Given the description of an element on the screen output the (x, y) to click on. 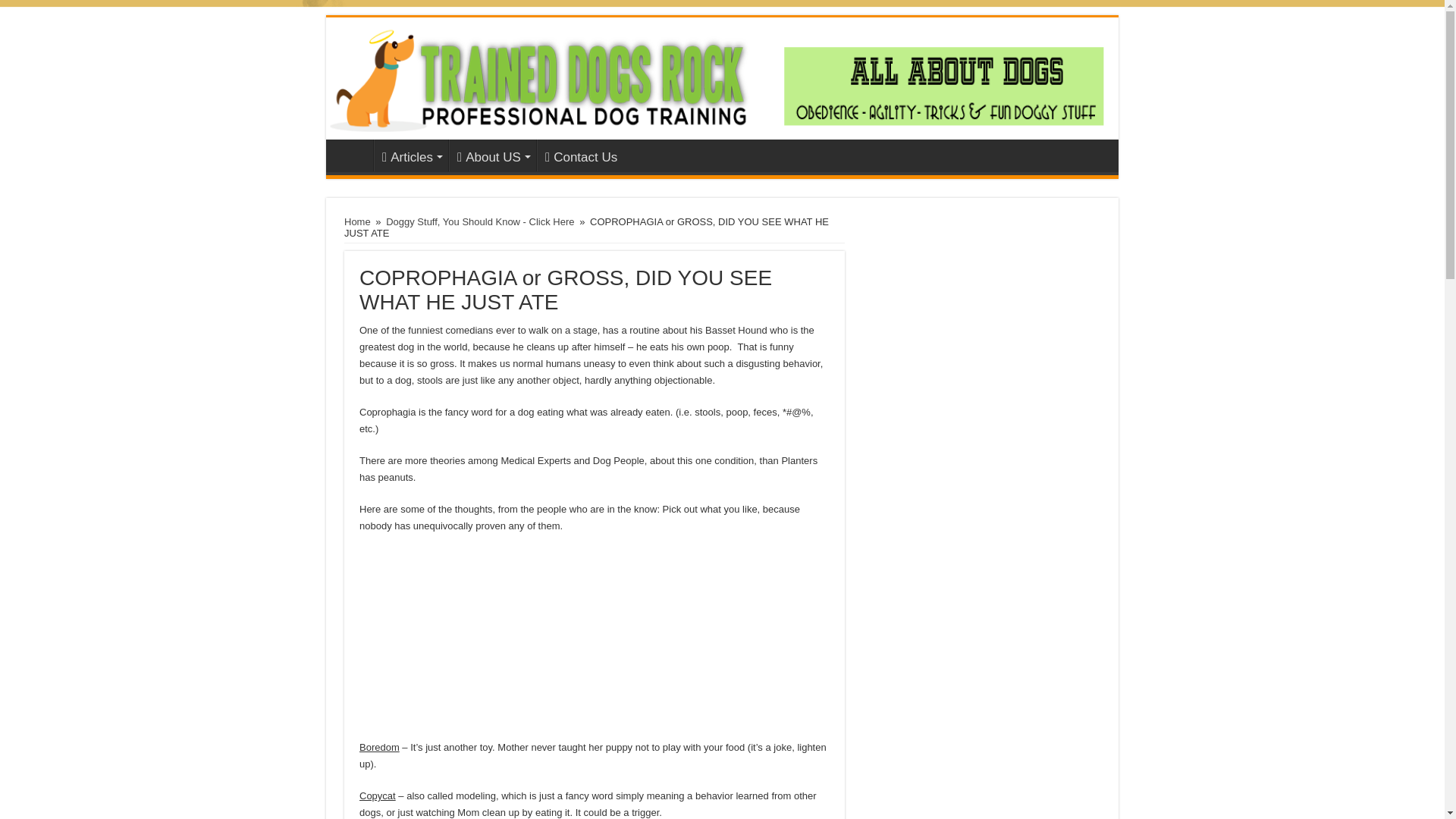
Doggy Stuff, You Should Know - Click Here (479, 221)
Home (352, 155)
Articles (411, 155)
Trained Dogs Rock (722, 78)
About US (491, 155)
Contact Us (580, 155)
Home (357, 221)
